Given the description of an element on the screen output the (x, y) to click on. 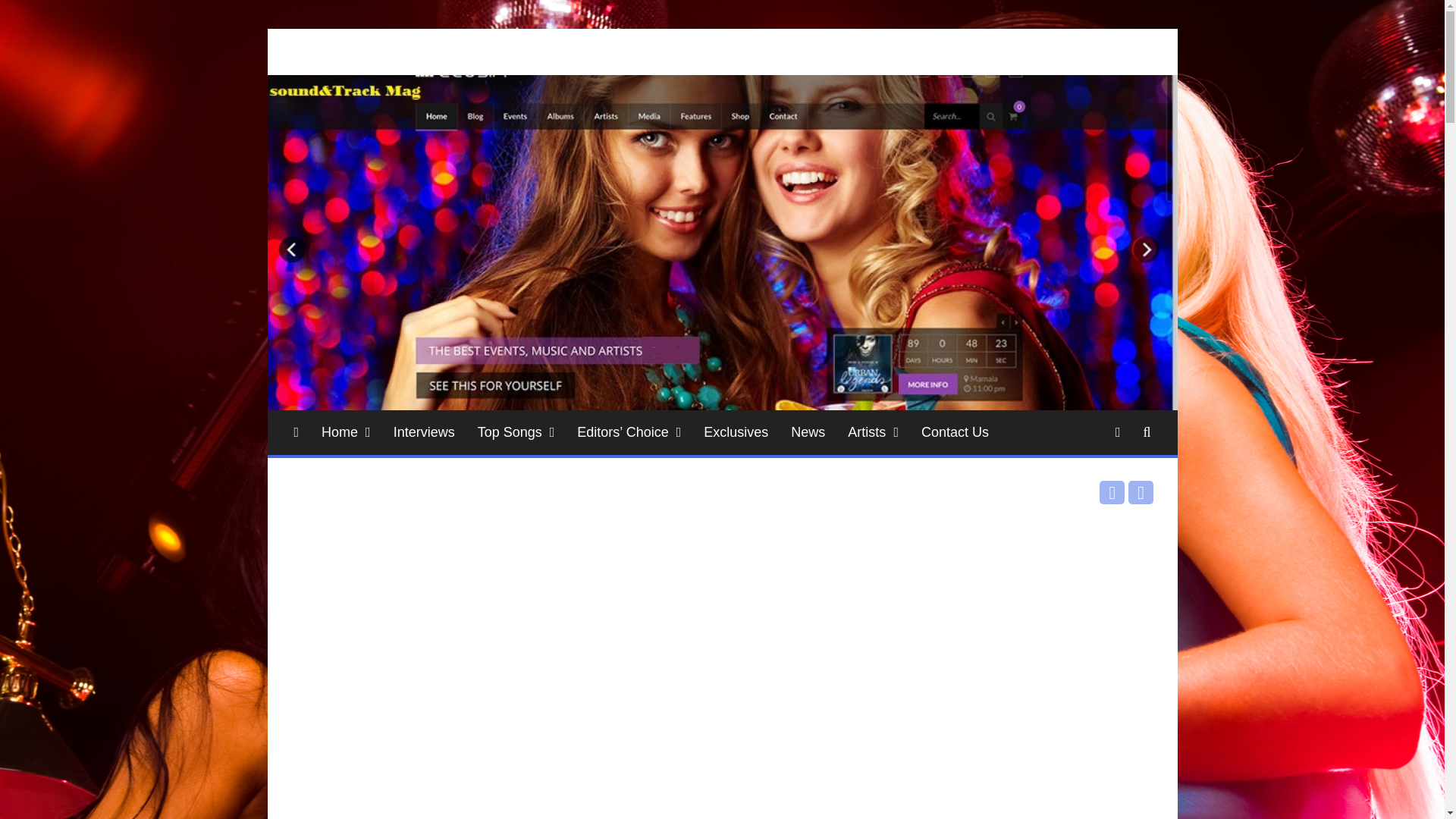
Top Songs (515, 432)
Interviews (423, 432)
Artists (872, 432)
Exclusives (735, 432)
Contact Us (955, 432)
Home (345, 432)
SnT Mag (339, 72)
News (806, 432)
